Given the description of an element on the screen output the (x, y) to click on. 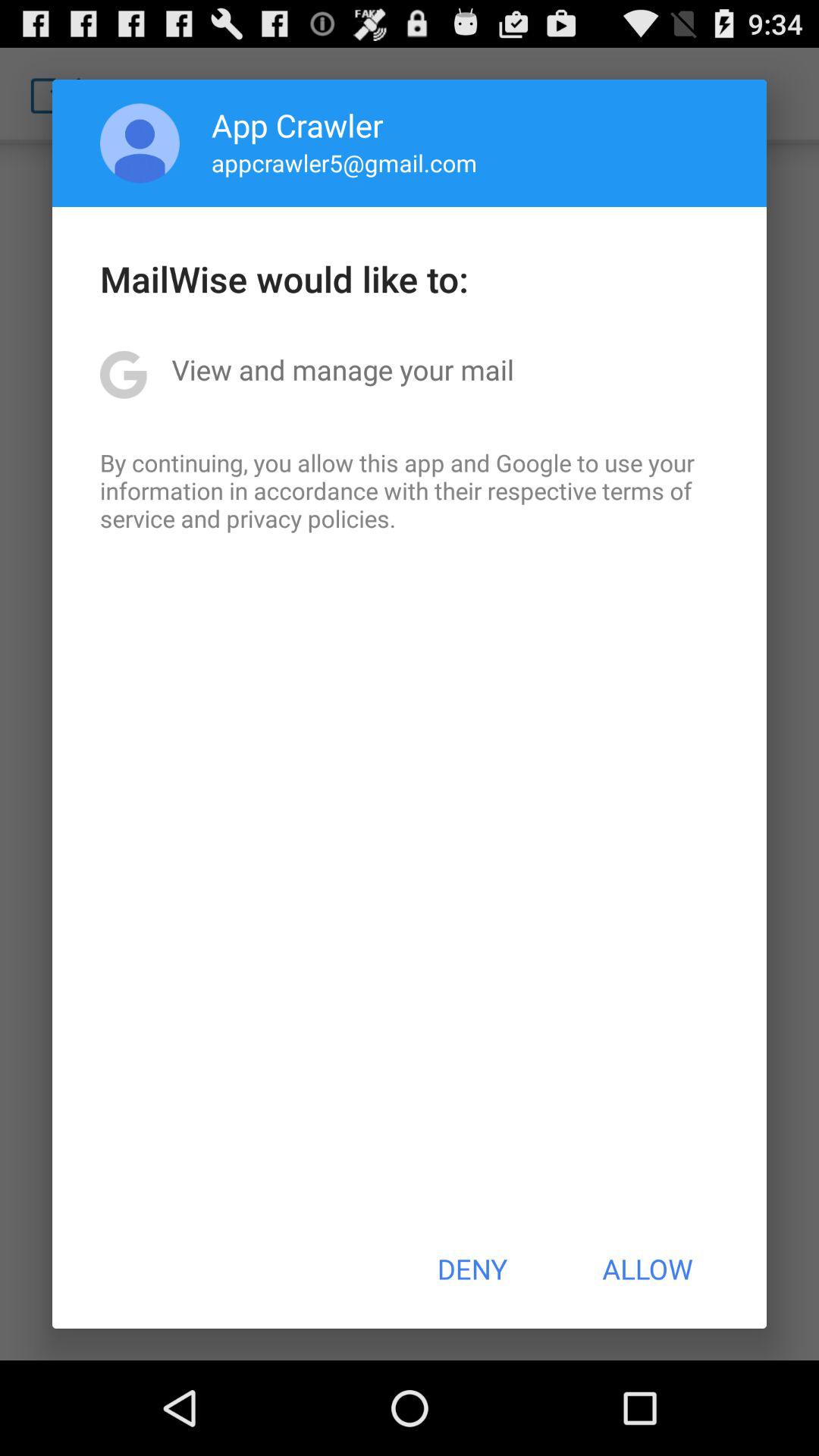
open the icon above by continuing you item (342, 369)
